Given the description of an element on the screen output the (x, y) to click on. 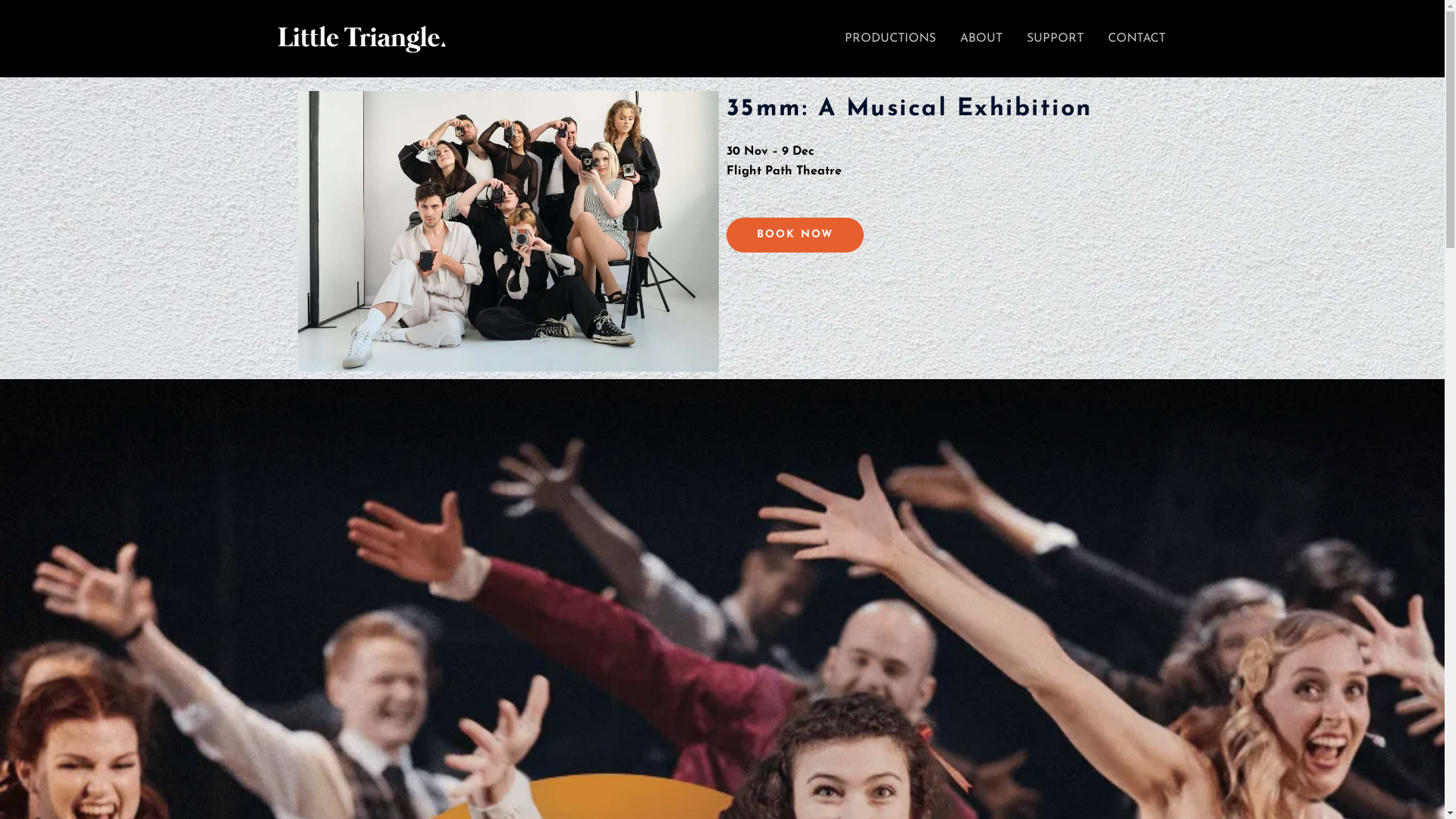
PRODUCTIONS Element type: text (889, 38)
SUPPORT Element type: text (1054, 38)
CONTACT Element type: text (1135, 38)
ABOUT Element type: text (980, 38)
BOOK NOW Element type: text (794, 234)
